Given the description of an element on the screen output the (x, y) to click on. 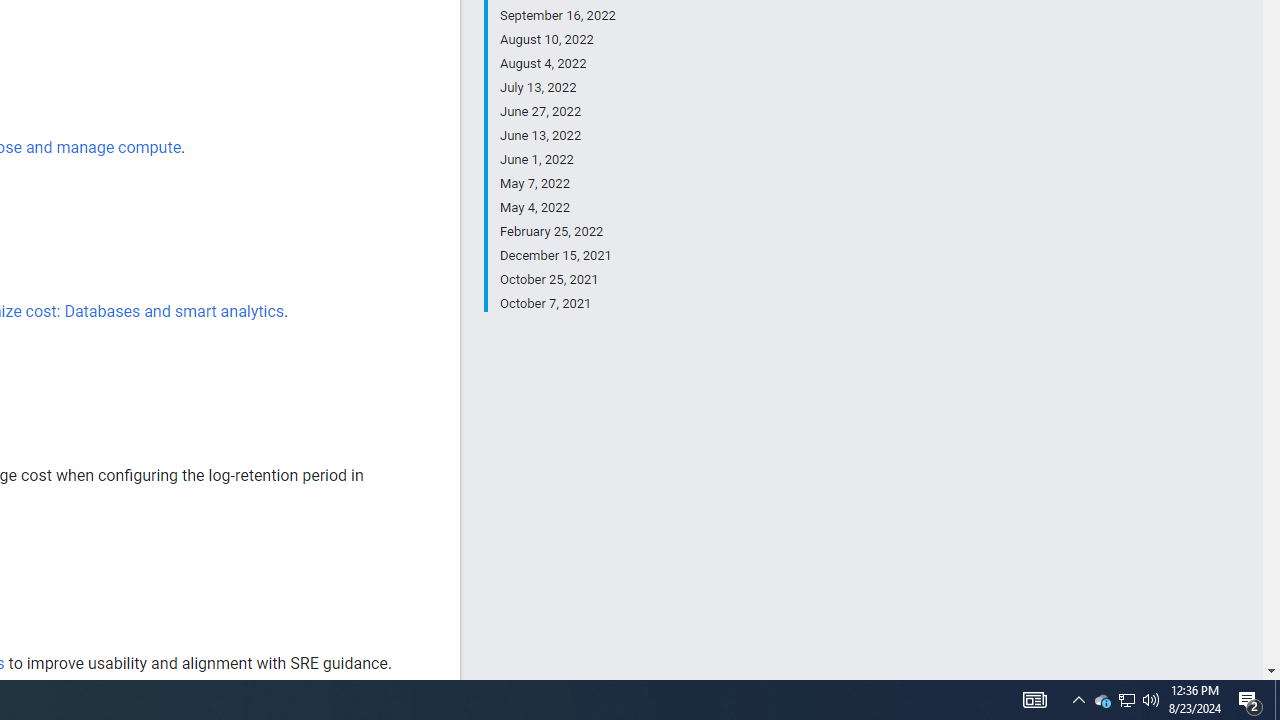
October 25, 2021 (557, 279)
June 27, 2022 (557, 111)
July 13, 2022 (557, 88)
May 7, 2022 (557, 183)
August 4, 2022 (557, 63)
August 10, 2022 (557, 39)
September 16, 2022 (557, 16)
June 13, 2022 (557, 135)
February 25, 2022 (557, 232)
October 7, 2021 (557, 301)
June 1, 2022 (557, 160)
December 15, 2021 (557, 255)
May 4, 2022 (557, 207)
